Given the description of an element on the screen output the (x, y) to click on. 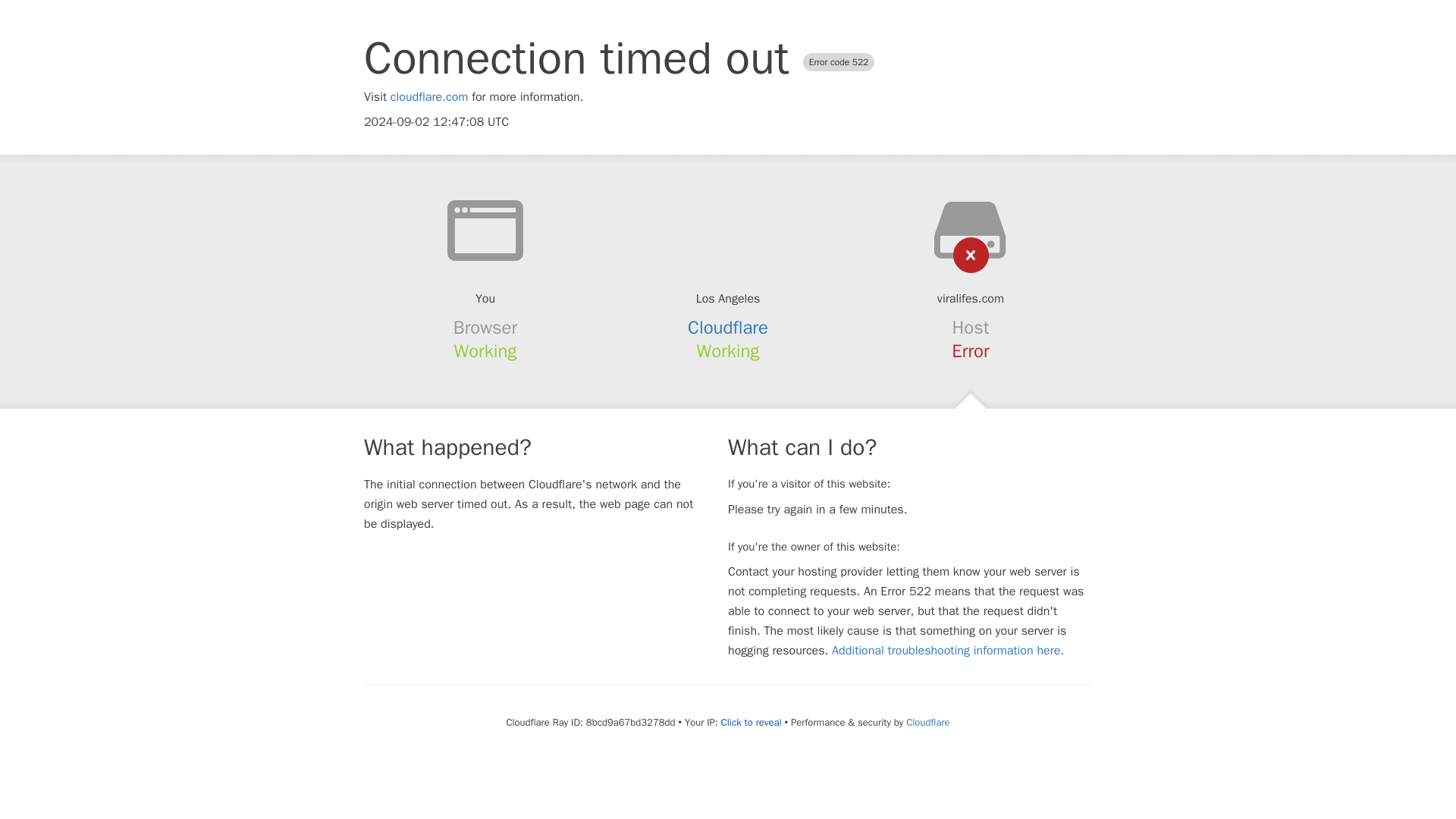
Cloudflare (927, 721)
Additional troubleshooting information here. (947, 650)
Cloudflare (727, 327)
Click to reveal (750, 722)
cloudflare.com (429, 96)
